Given the description of an element on the screen output the (x, y) to click on. 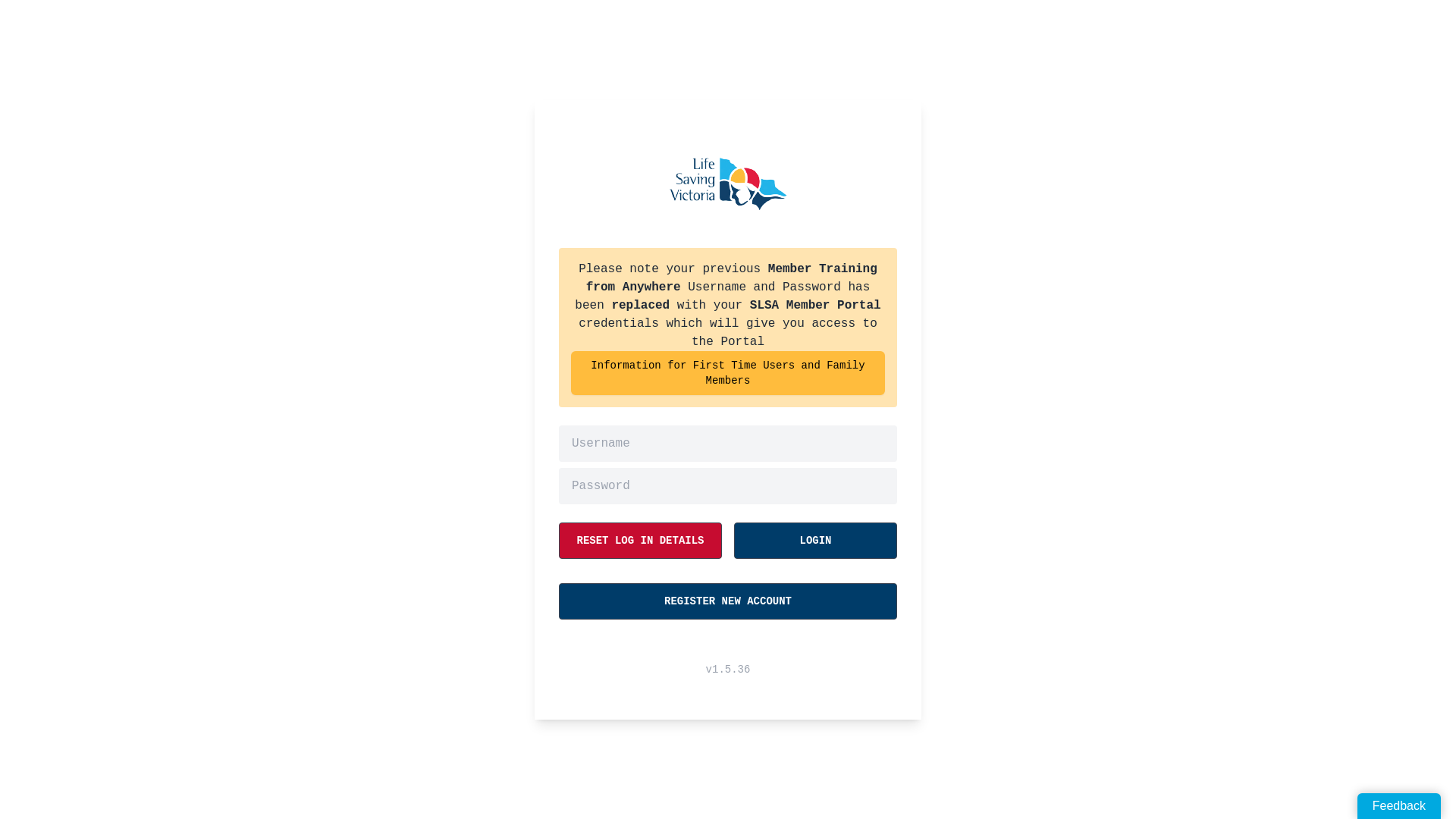
RESET LOG IN DETAILS Element type: text (639, 539)
REGISTER NEW ACCOUNT Element type: text (727, 600)
Information for First Time Users and Family Members Element type: text (727, 372)
LOGIN Element type: text (815, 539)
